Given the description of an element on the screen output the (x, y) to click on. 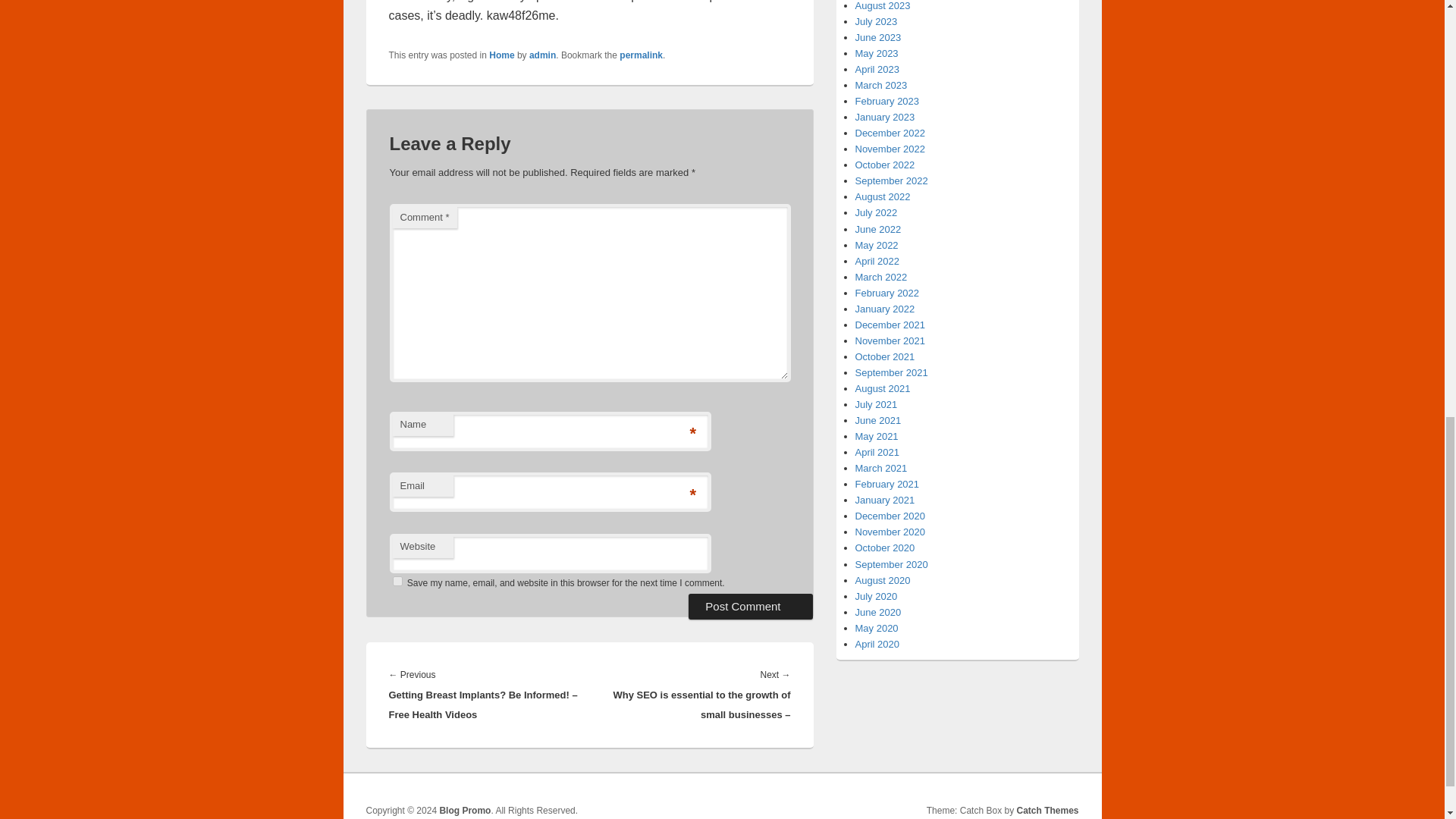
yes (398, 581)
Post Comment (750, 606)
Home (501, 54)
admin (542, 54)
Catch Themes (1047, 810)
Post Comment (750, 606)
Blog Promo (464, 810)
permalink (641, 54)
